Given the description of an element on the screen output the (x, y) to click on. 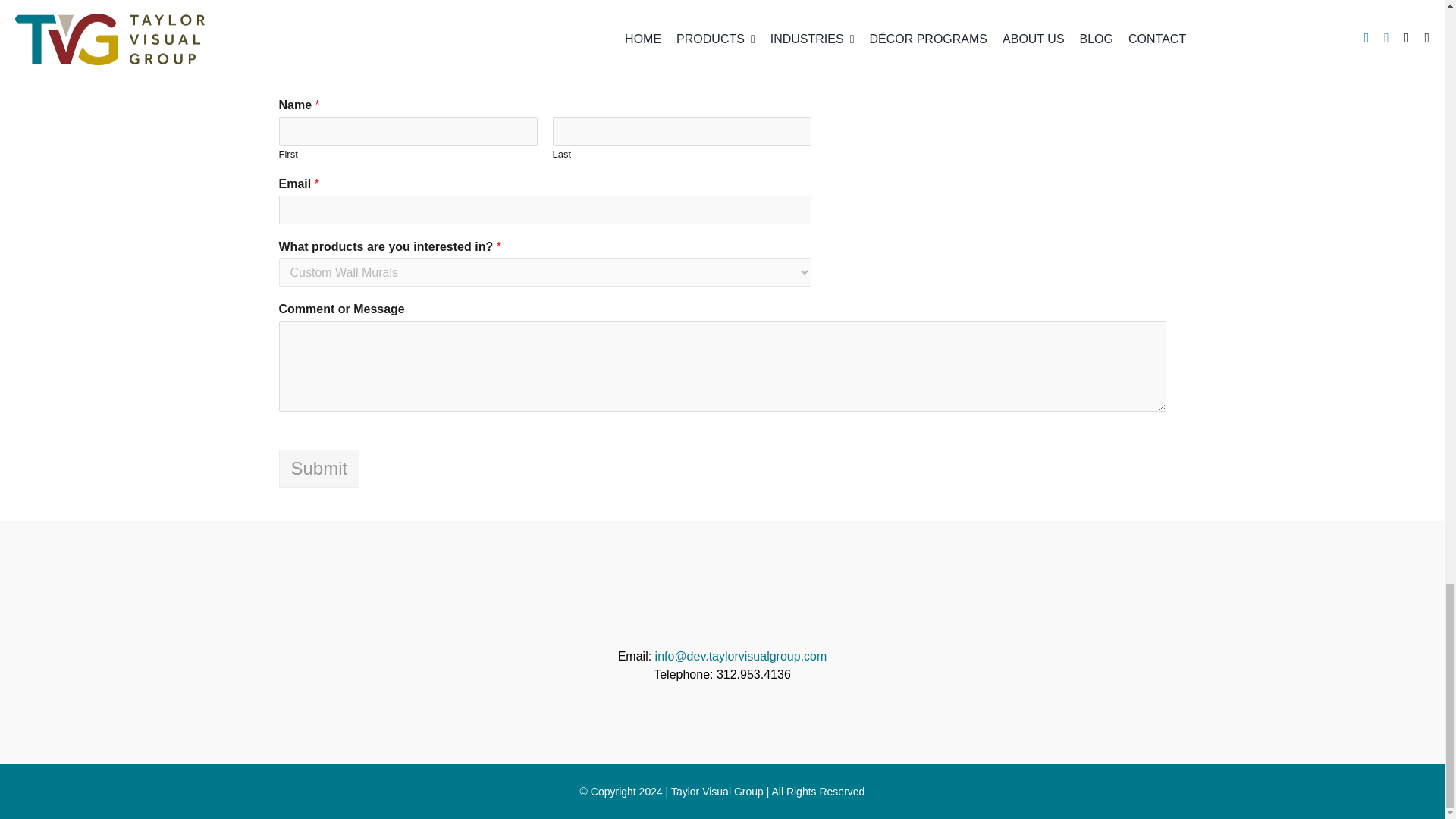
TVG-11-e1424973435702 (722, 608)
